Given the description of an element on the screen output the (x, y) to click on. 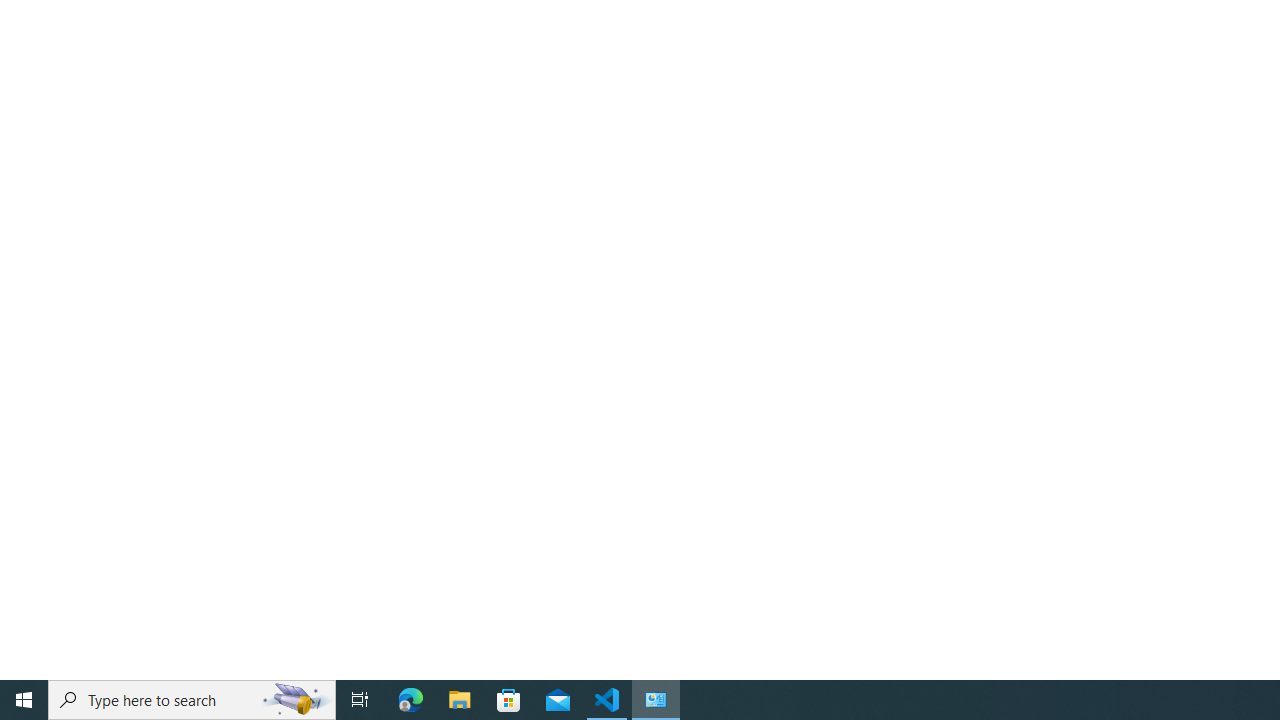
Control Panel - 1 running window (656, 699)
